Given the description of an element on the screen output the (x, y) to click on. 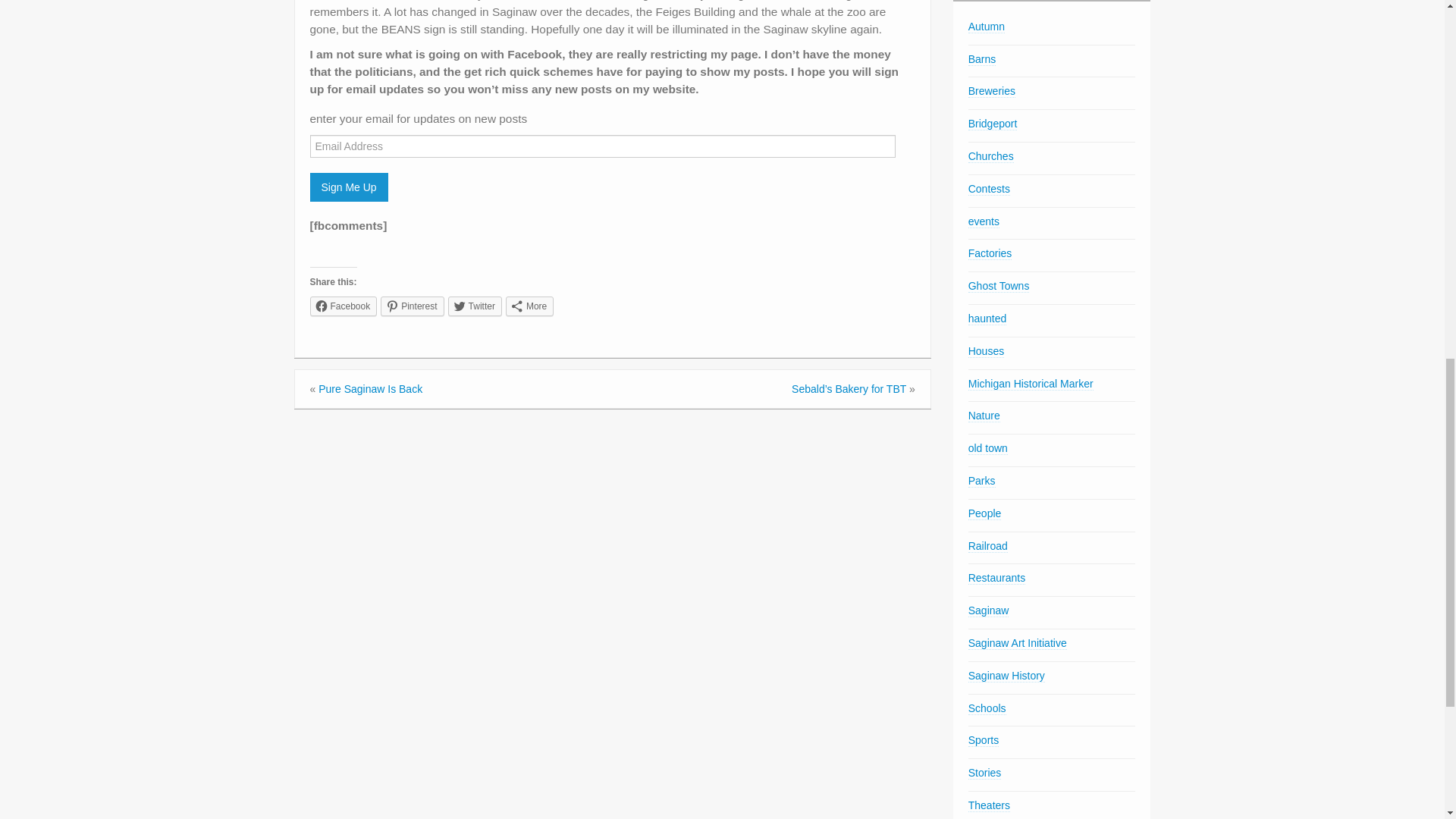
Click to share on Facebook (342, 306)
More (529, 306)
Click to share on Twitter (475, 306)
Click to share on Pinterest (412, 306)
Pinterest (412, 306)
Sign Me Up (347, 186)
Twitter (475, 306)
Barns (981, 59)
Autumn (986, 26)
Pure Saginaw Is Back (370, 388)
Breweries (991, 91)
Bridgeport (992, 123)
Facebook (342, 306)
Churches (990, 155)
